Given the description of an element on the screen output the (x, y) to click on. 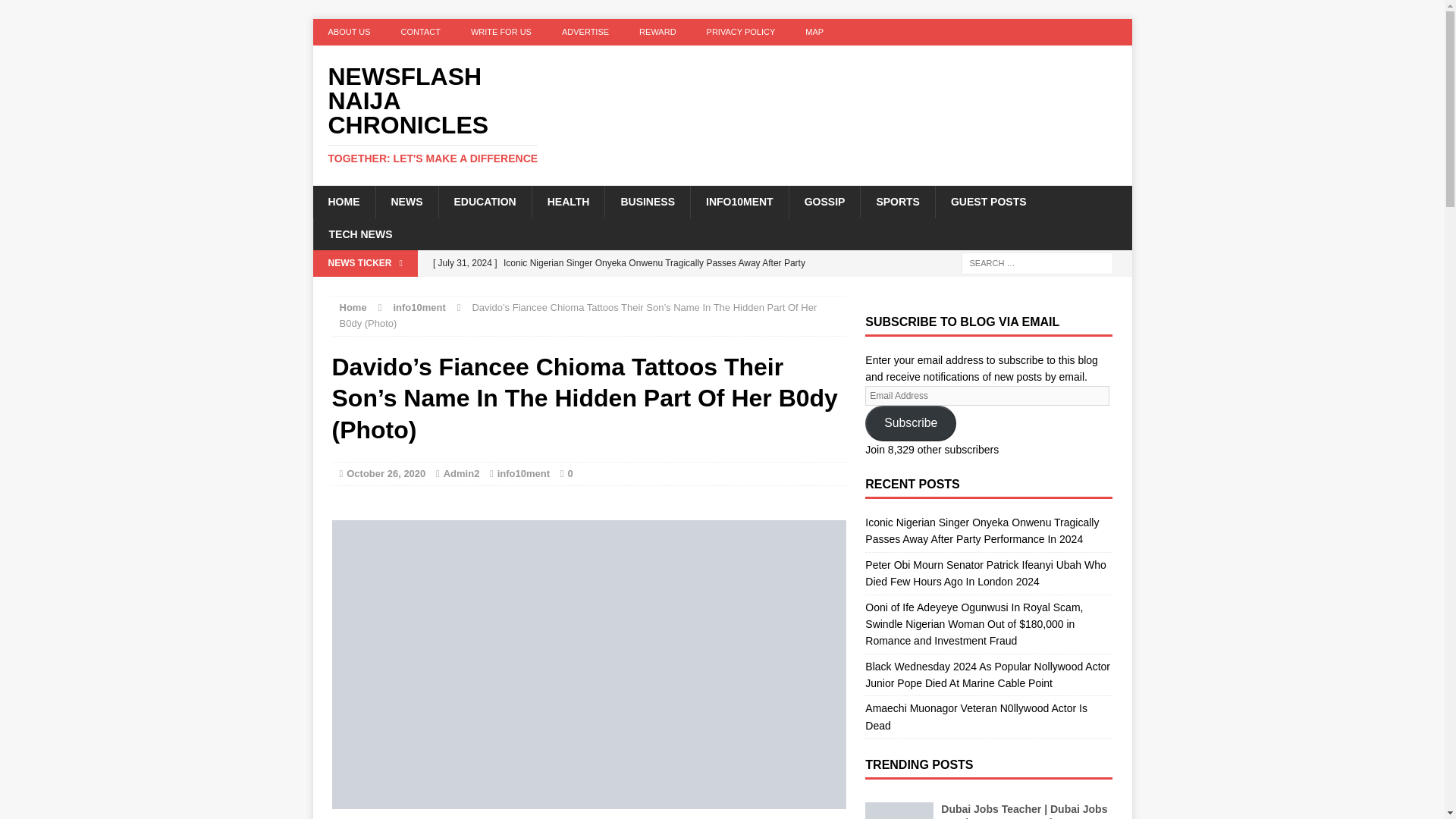
SPORTS (897, 201)
info10ment (419, 307)
HOME (343, 201)
ABOUT US (349, 31)
NEWS (406, 201)
Home (352, 307)
BUSINESS (647, 201)
INFO10MENT (739, 201)
MAP (814, 31)
